Given the description of an element on the screen output the (x, y) to click on. 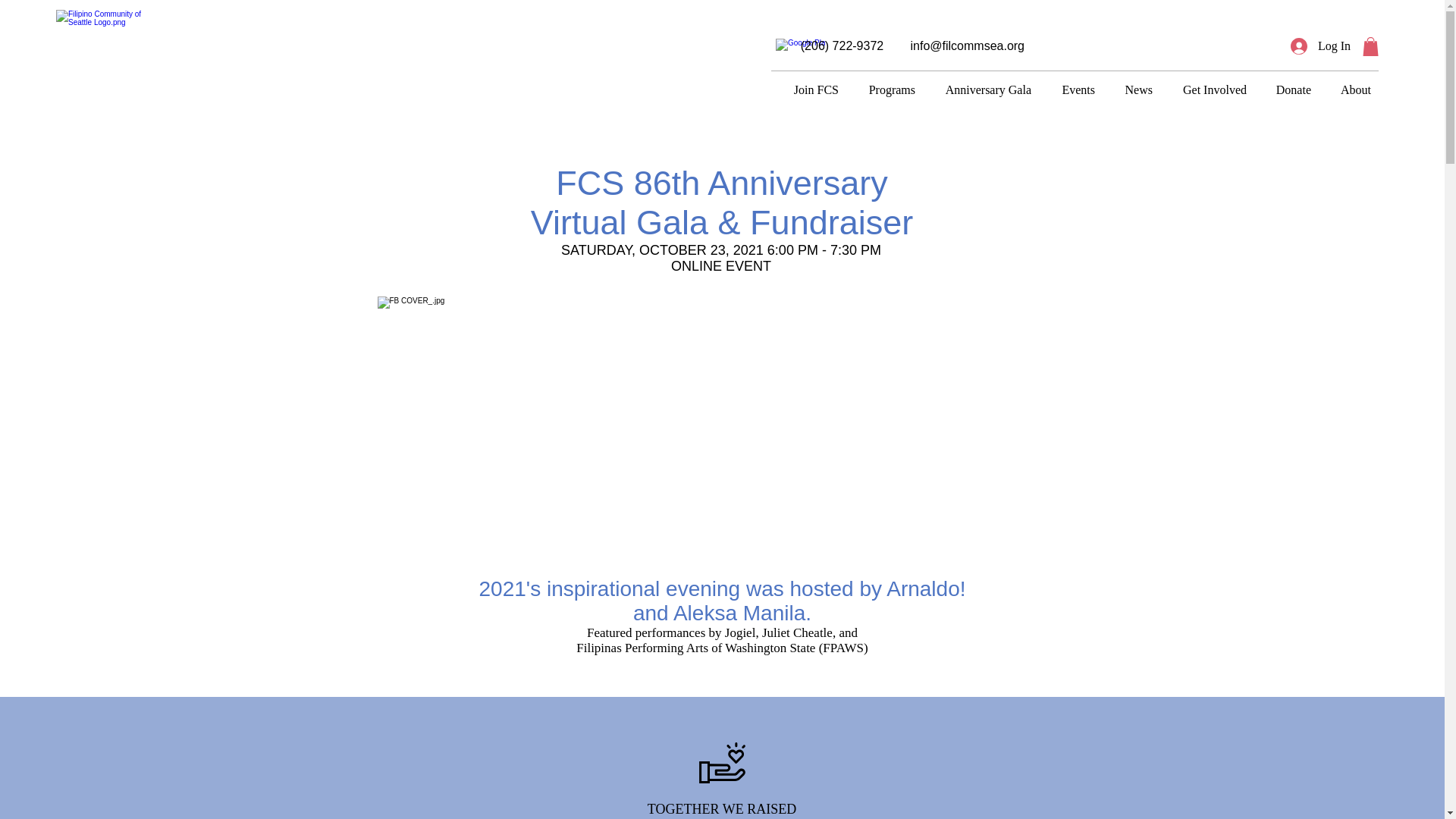
Get Involved (1206, 89)
News (1131, 89)
Join FCS (808, 89)
About (1348, 89)
Programs (884, 89)
Events (1070, 89)
Anniversary Gala (981, 89)
Donate (1286, 89)
Log In (1320, 45)
